Given the description of an element on the screen output the (x, y) to click on. 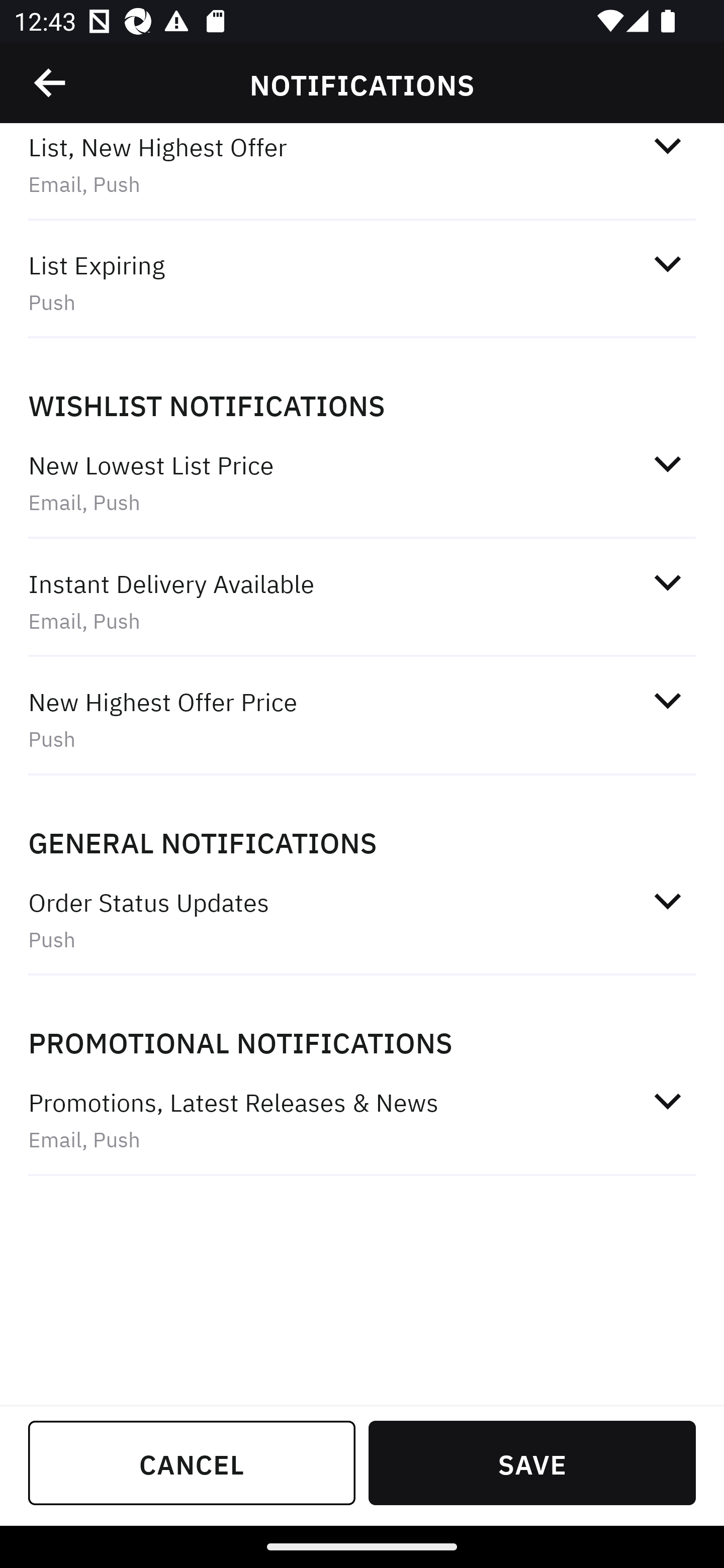
 (50, 83)
List, New Highest Offer  Email, Push (361, 173)
 (667, 145)
List Expiring  Push (361, 282)
 (667, 263)
New Lowest List Price  Email, Push (361, 482)
 (667, 463)
Instant Delivery Available  Email, Push (361, 601)
 (667, 582)
New Highest Offer Price  Push (361, 719)
 (667, 699)
Order Status Updates  Push (361, 919)
 (667, 900)
Promotions, Latest Releases & News  Email, Push (361, 1120)
 (667, 1101)
CANCEL (191, 1462)
SAVE (531, 1462)
